Given the description of an element on the screen output the (x, y) to click on. 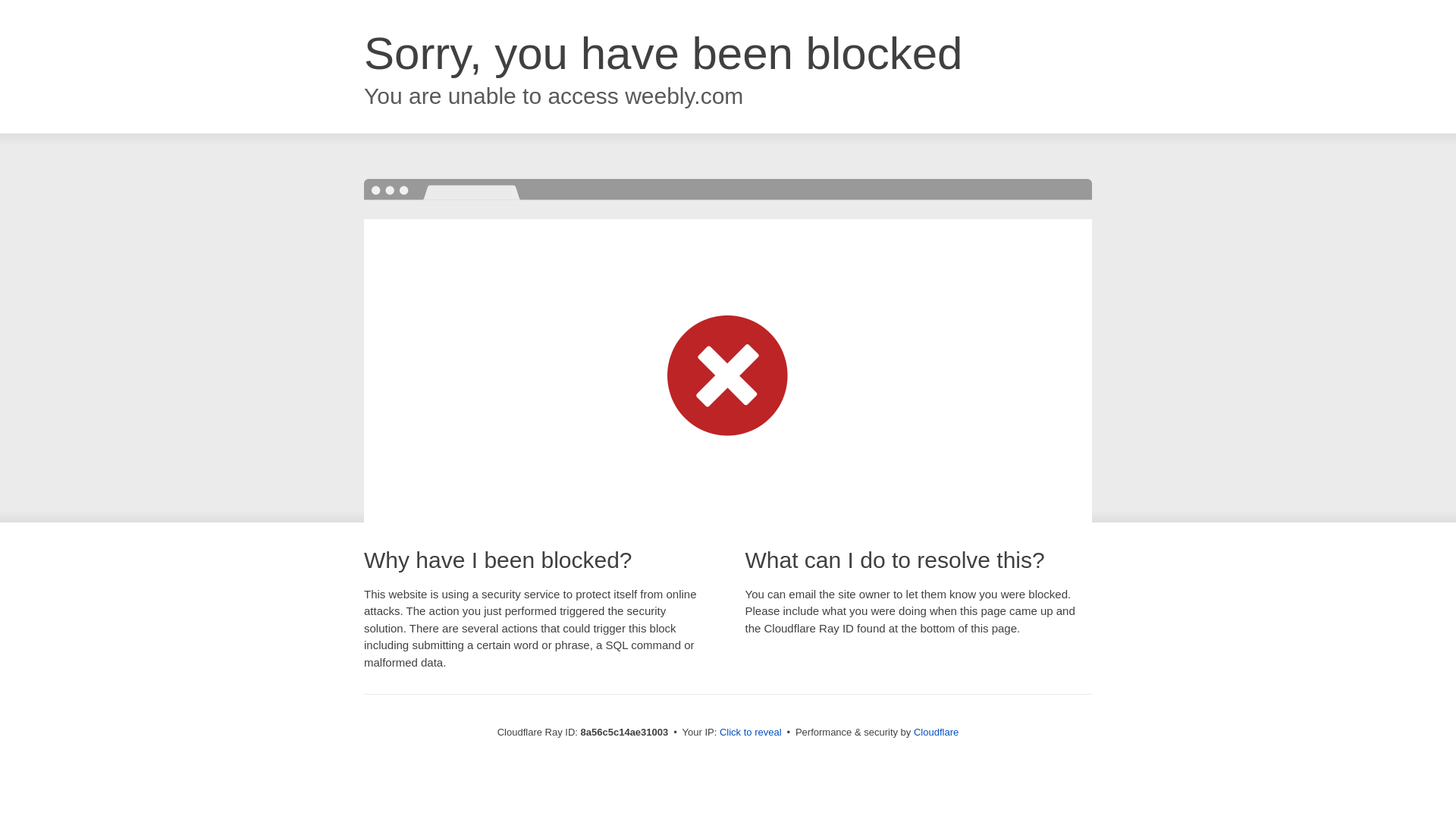
Cloudflare (936, 731)
Click to reveal (750, 732)
